Given the description of an element on the screen output the (x, y) to click on. 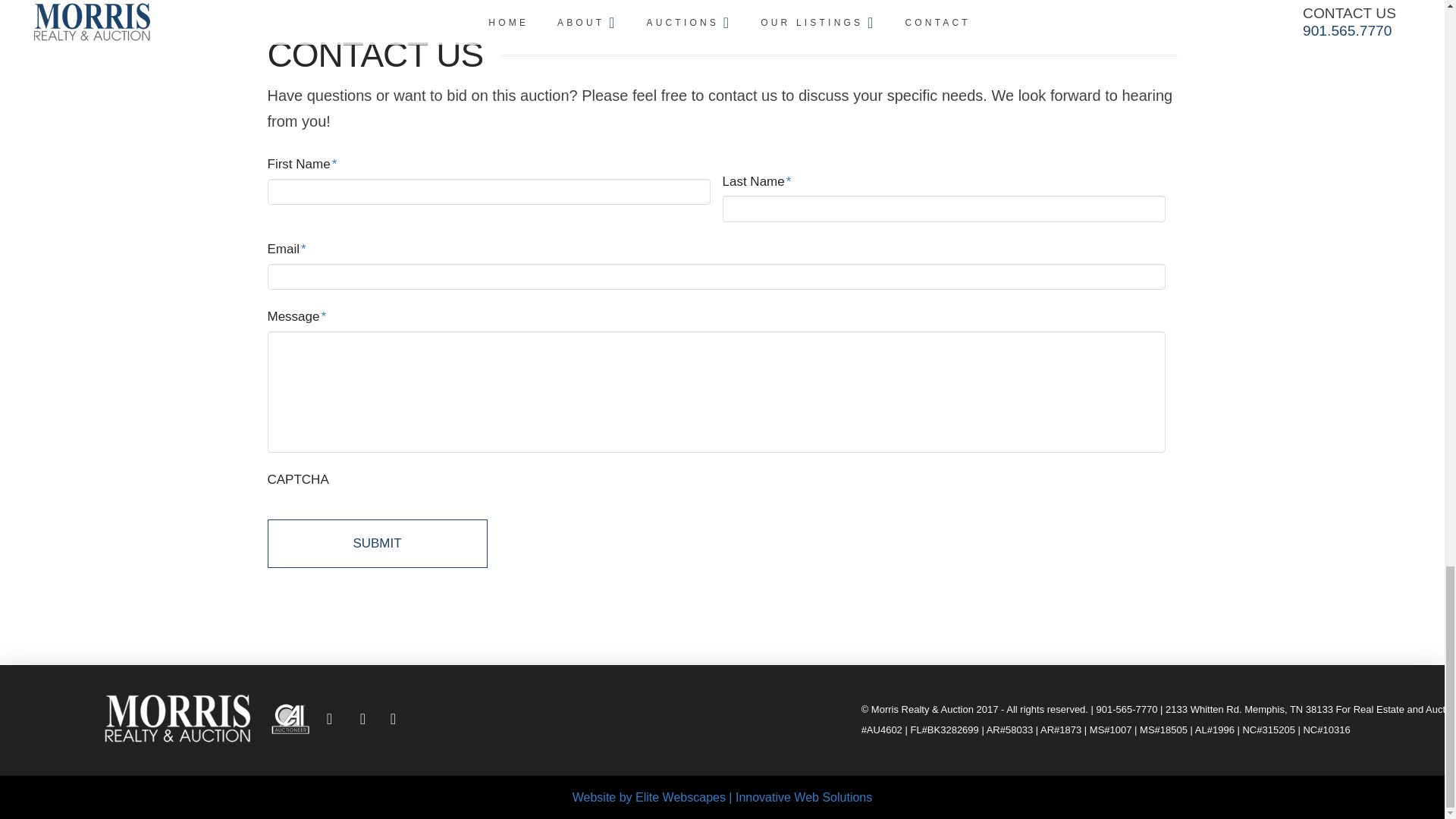
Submit (376, 543)
